Given the description of an element on the screen output the (x, y) to click on. 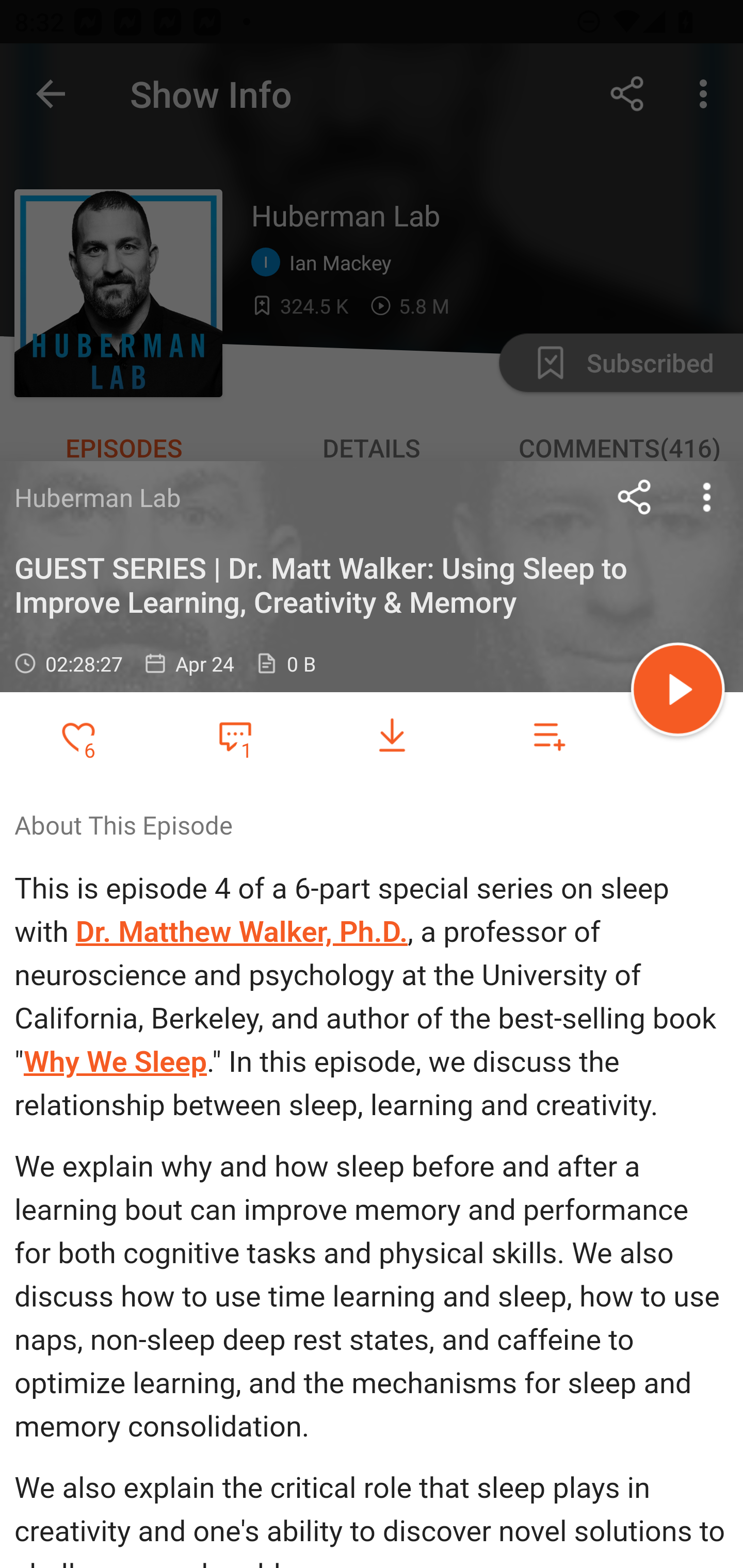
Share (634, 496)
more options (706, 496)
Play (677, 692)
1 Favorite (234, 735)
Add to Favorites (78, 735)
Download (391, 735)
Add to playlist (548, 735)
